Given the description of an element on the screen output the (x, y) to click on. 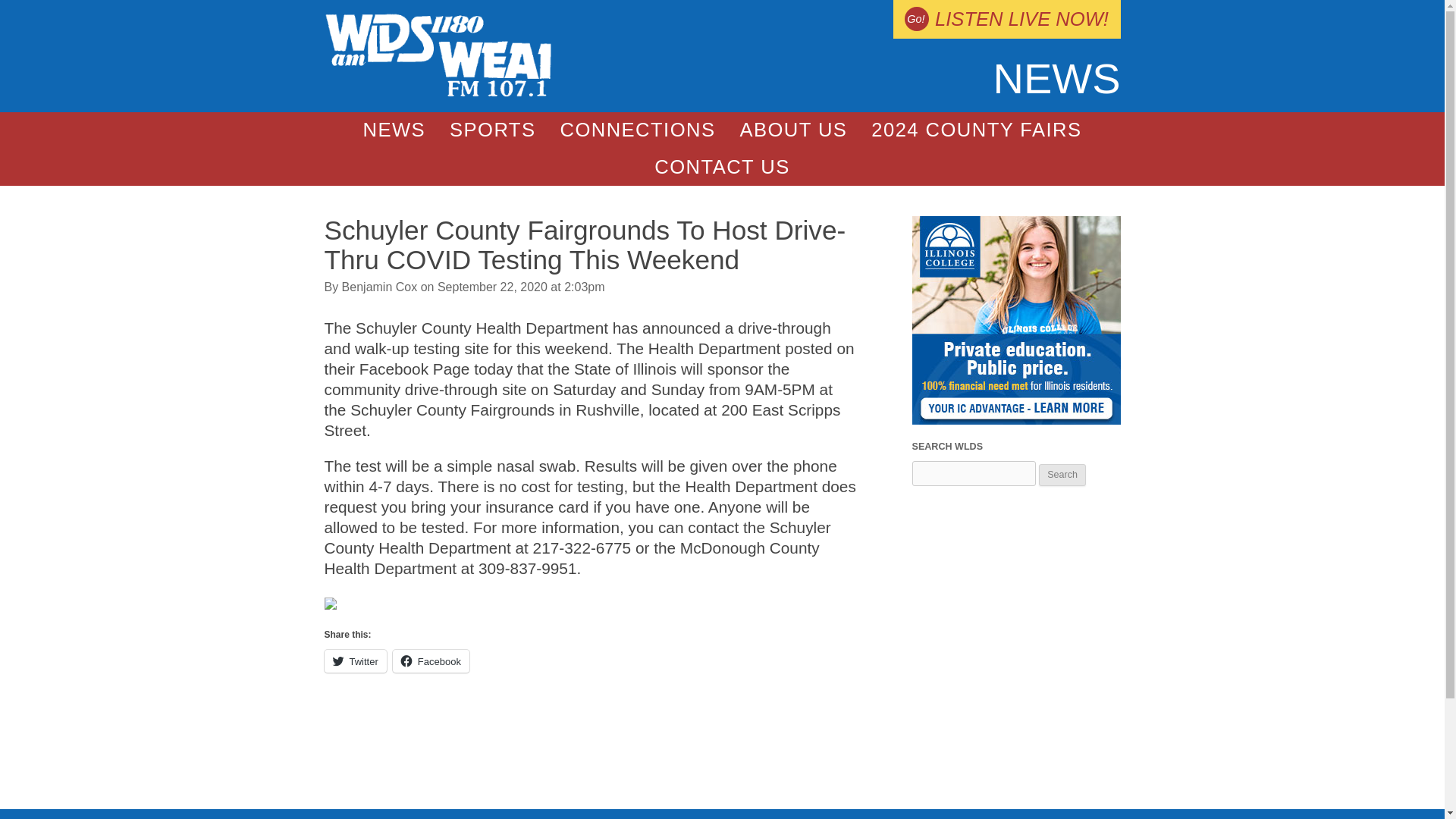
Facebook (430, 661)
CONTACT US (722, 167)
NEWS (394, 130)
ABOUT US (792, 130)
LISTEN LIVE NOW! (1006, 19)
Click to share on Facebook (430, 661)
2024 COUNTY FAIRS (976, 130)
CONNECTIONS (636, 130)
Search (1062, 475)
WLDS (437, 92)
